Given the description of an element on the screen output the (x, y) to click on. 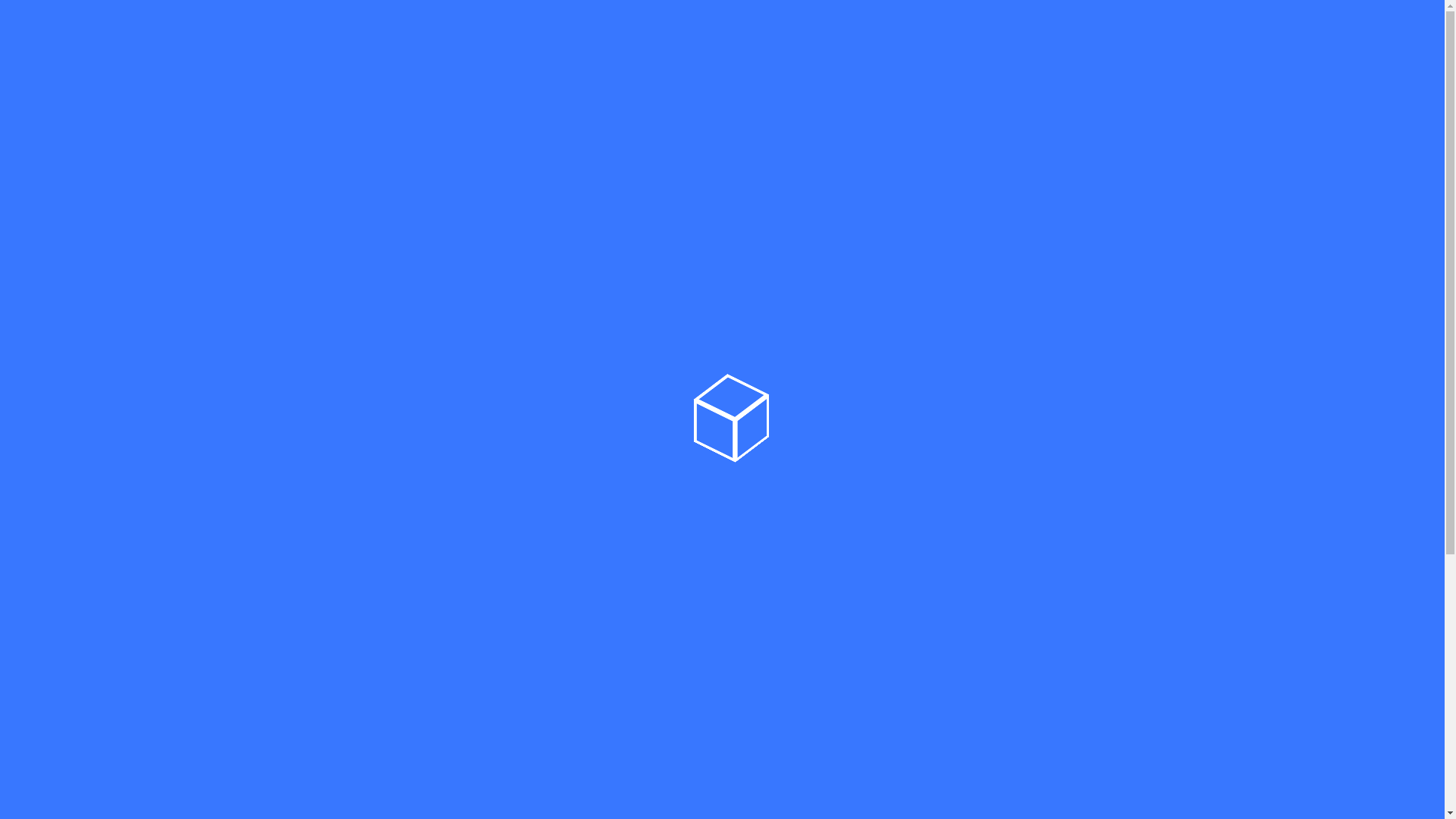
Robno knjigovodstvo Element type: text (404, 249)
Obrasci Element type: text (359, 720)
Adresar Element type: text (360, 347)
Cjenovnik Element type: text (1182, 31)
5D Element Element type: text (371, 174)
Fiskalizacija Element type: text (372, 687)
O nama Element type: text (885, 31)
Ponuda Element type: text (1020, 31)
POS kasa Element type: text (364, 510)
Finansijska operativa Element type: text (404, 282)
Kontakt Element type: text (1334, 31)
Preuzimanje Element type: text (374, 752)
Stalna sredstva Element type: text (386, 379)
5th-Dimension Element type: hover (141, 31)
Novosti Element type: text (951, 31)
Ugovori o djelu Element type: text (383, 477)
Adresar Element type: text (629, 261)
Glavna knjiga Element type: text (379, 314)
Kadrovska evidencija Element type: text (404, 445)
Reference Element type: text (1100, 31)
